Given the description of an element on the screen output the (x, y) to click on. 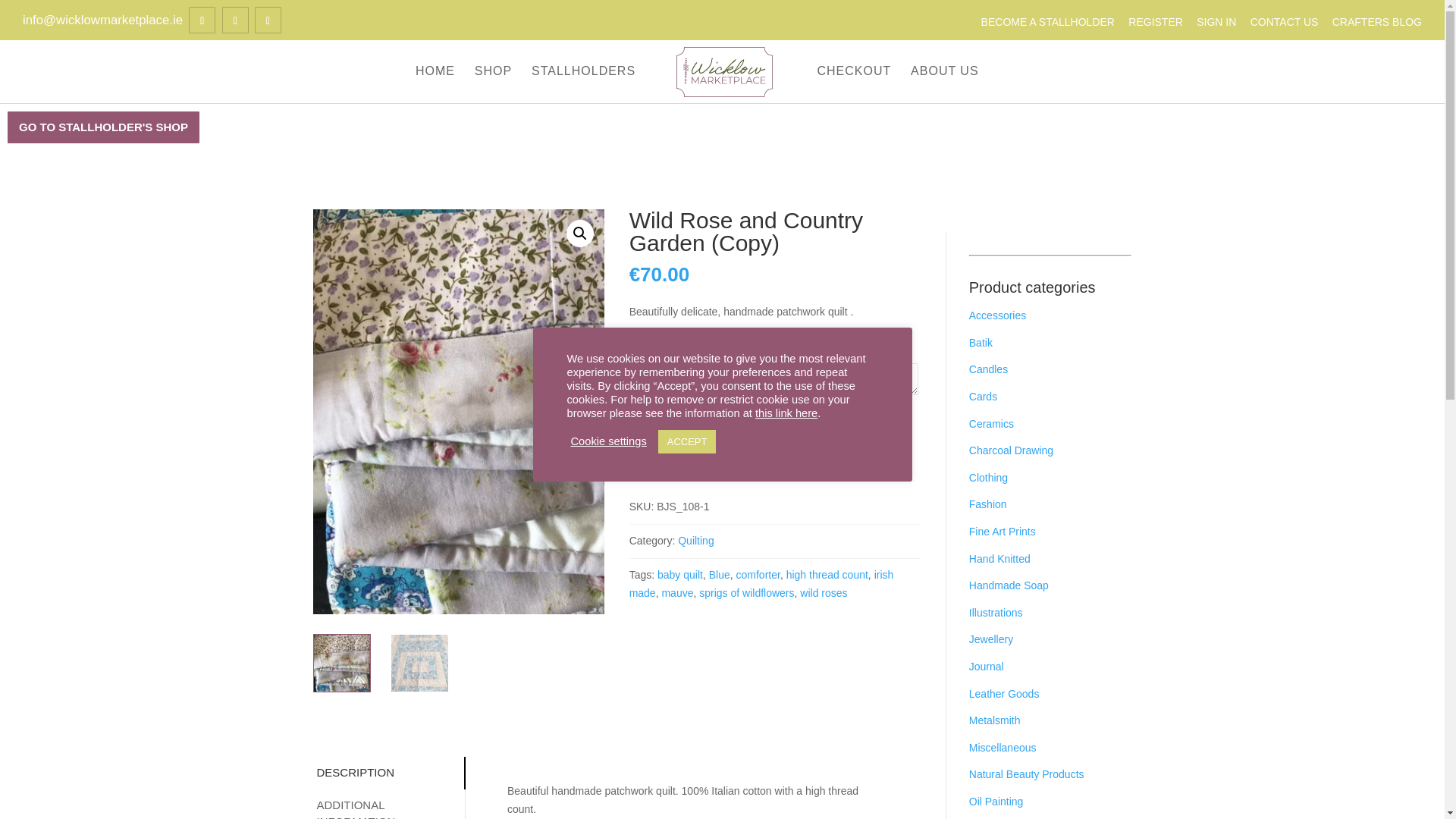
SIGN IN (1216, 21)
REGISTER (1155, 21)
ADD TO BASKET (751, 422)
ABOUT US (944, 84)
Quilting (695, 540)
CHECKOUT (853, 84)
CUSTOMER SUPPORT (704, 457)
GO TO STALLHOLDER'S SHOP (103, 127)
1 (651, 422)
HOME (434, 84)
STALLHOLDERS (582, 84)
SHOP (493, 84)
BECOME A STALLHOLDER (1048, 21)
0items (1023, 71)
CRAFTERS BLOG (1377, 21)
